Given the description of an element on the screen output the (x, y) to click on. 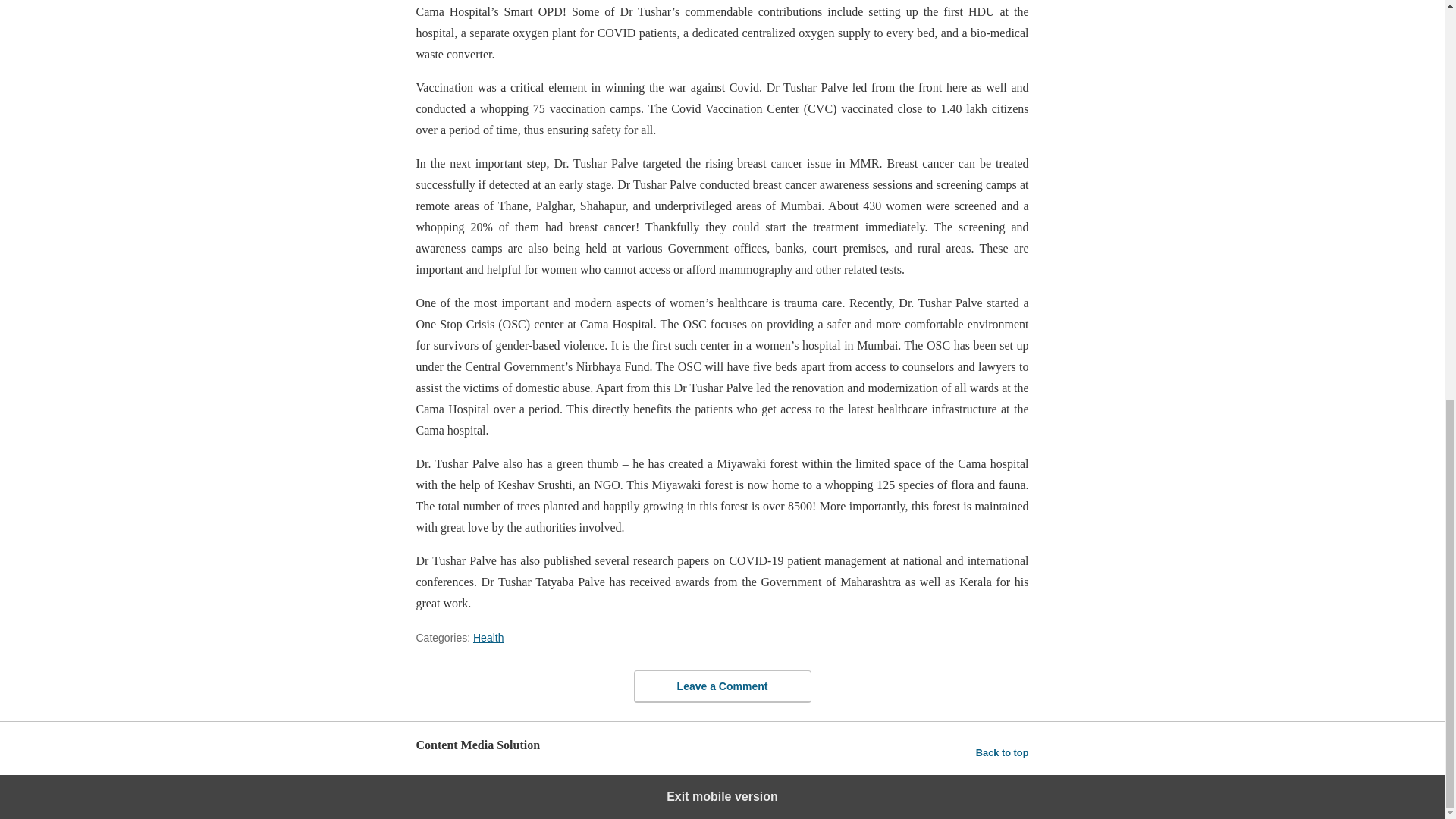
Leave a Comment (721, 686)
Back to top (1002, 752)
Health (488, 637)
